Given the description of an element on the screen output the (x, y) to click on. 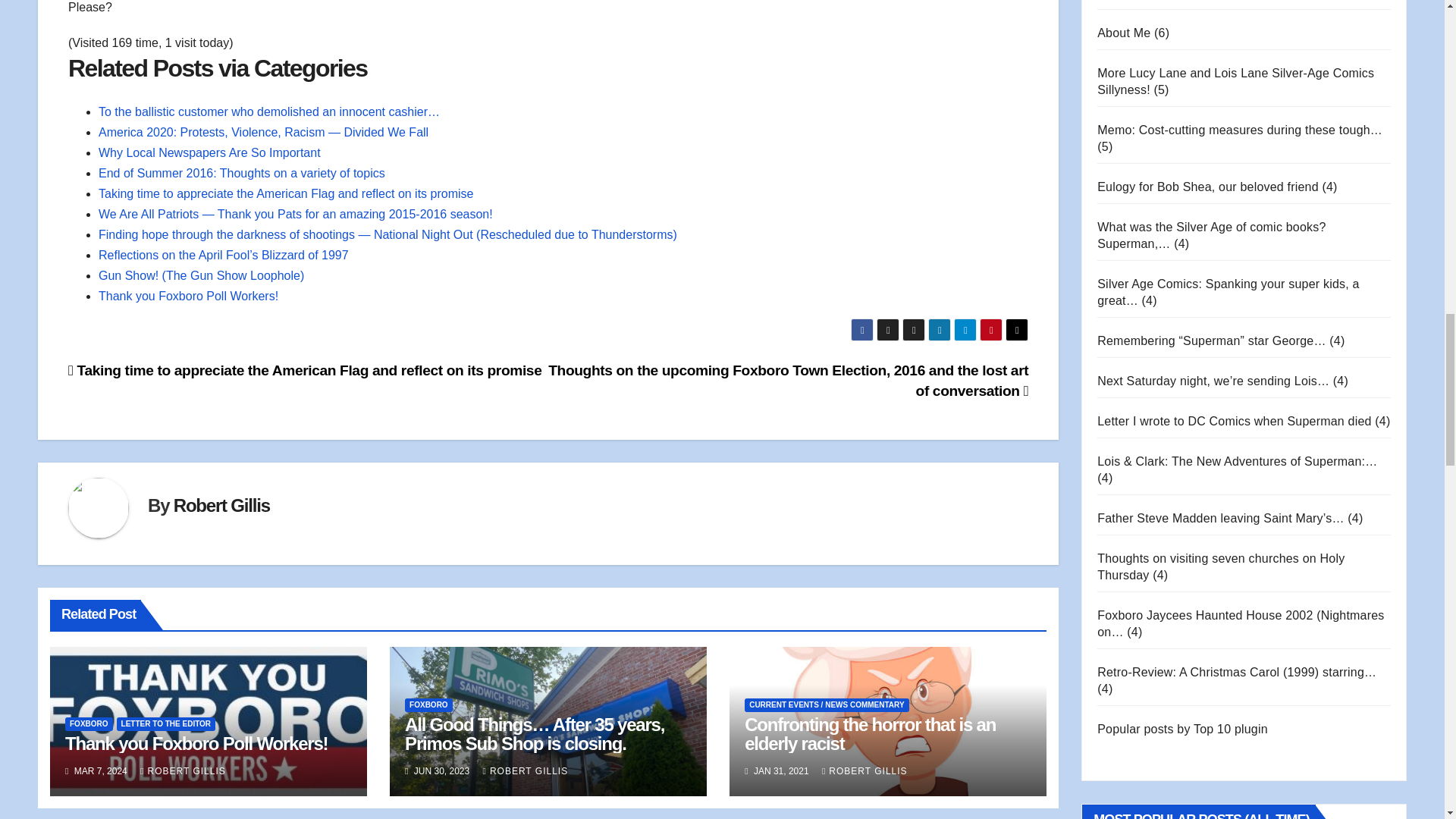
Why Local Newspapers Are So Important (209, 152)
Why Local Newspapers Are So Important (209, 152)
Thank you Foxboro Poll Workers! (188, 295)
End of Summer 2016: Thoughts on a variety of topics (242, 173)
End of Summer 2016: Thoughts on a variety of topics (242, 173)
Robert Gillis (221, 505)
FOXBORO (89, 724)
